Given the description of an element on the screen output the (x, y) to click on. 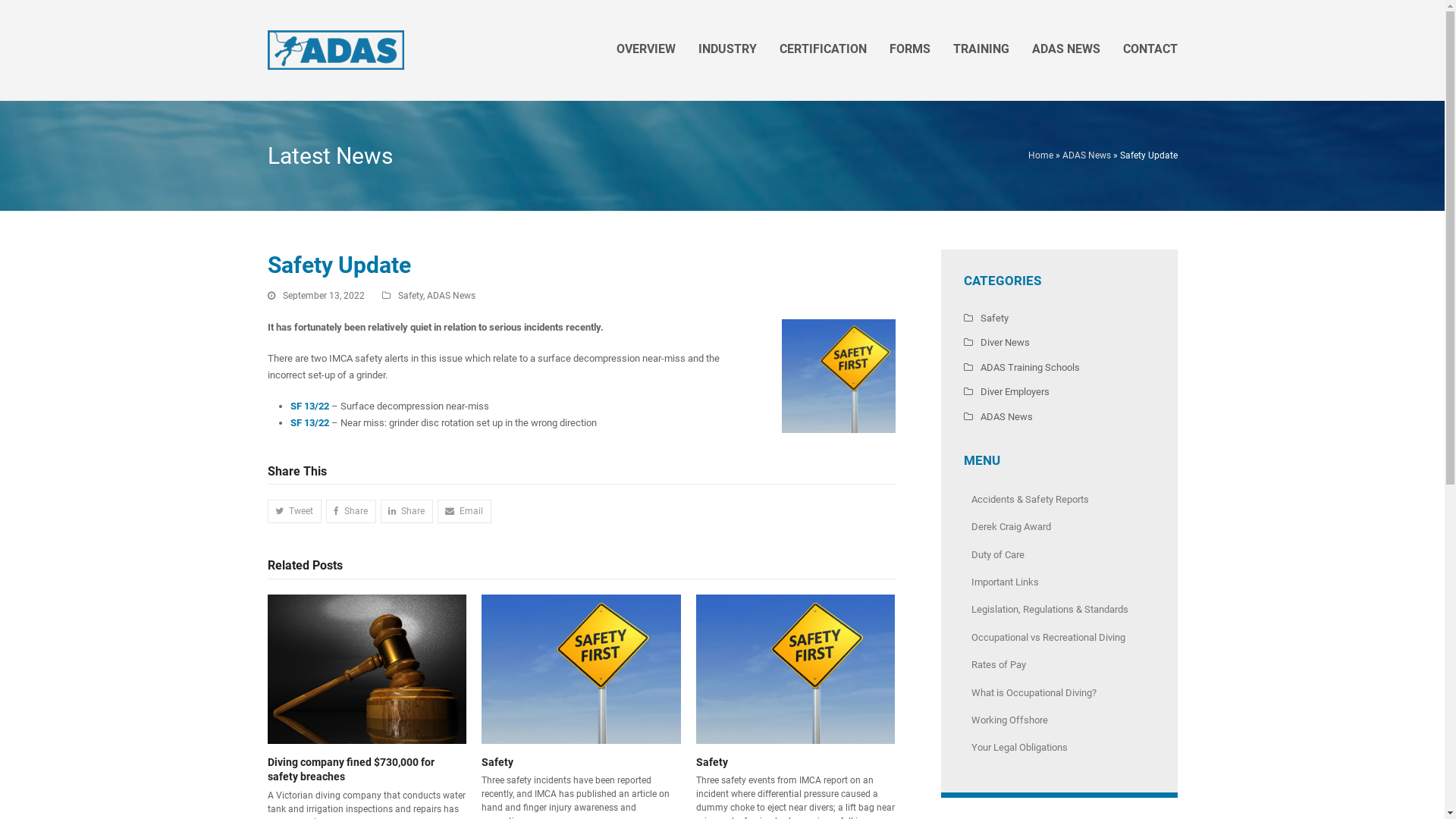
Home Element type: text (1040, 155)
SF 13/22 Element type: text (308, 422)
Rates of Pay Element type: text (1058, 664)
Working Offshore Element type: text (1058, 720)
OVERVIEW Element type: text (646, 50)
Safety Element type: text (409, 295)
Important Links Element type: text (1058, 582)
Email Element type: text (464, 511)
Derek Craig Award Element type: text (1058, 526)
INDUSTRY Element type: text (727, 50)
Diver News Element type: text (996, 342)
Diving company fined $730,000 for safety breaches Element type: text (349, 769)
ADAS Training Schools Element type: text (1021, 367)
ADAS NEWS Element type: text (1065, 50)
What is Occupational Diving? Element type: text (1058, 692)
Safety Element type: text (985, 317)
Diver Employers Element type: text (1005, 391)
Duty of Care Element type: text (1058, 554)
Safety Element type: text (712, 762)
Accidents & Safety Reports Element type: text (1058, 499)
Safety Element type: text (497, 762)
Your Legal Obligations Element type: text (1058, 747)
FORMS Element type: text (909, 50)
Share Element type: text (406, 511)
Safety Element type: hover (580, 668)
ADAS News Element type: text (997, 416)
Safety Element type: hover (795, 668)
CONTACT Element type: text (1150, 50)
Tweet Element type: text (293, 511)
Share Element type: text (351, 511)
SF 13/22 Element type: text (309, 405)
ADAS News Element type: text (450, 295)
Diving company fined $730,000 for safety breaches Element type: hover (366, 668)
CERTIFICATION Element type: text (822, 50)
Occupational vs Recreational Diving Element type: text (1058, 637)
Legislation, Regulations & Standards Element type: text (1058, 609)
TRAINING Element type: text (980, 50)
ADAS News Element type: text (1085, 155)
